Given the description of an element on the screen output the (x, y) to click on. 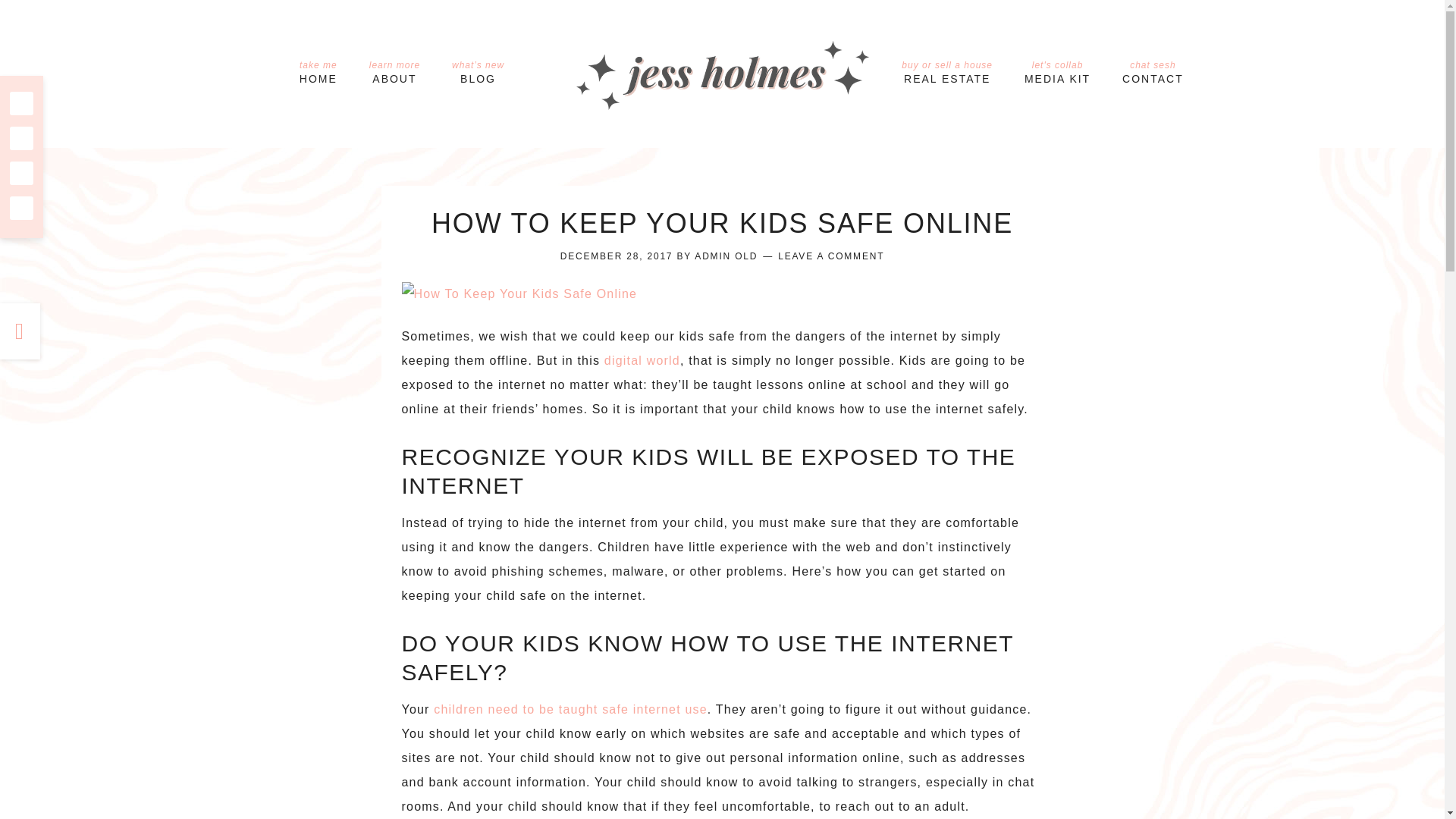
LEAVE A COMMENT (830, 255)
Wildish Jess (722, 73)
ADMIN OLD (947, 72)
digital world (725, 255)
children need to be taught safe internet use (1056, 72)
How To Keep Your Kids Safe Online 1 (641, 359)
